Given the description of an element on the screen output the (x, y) to click on. 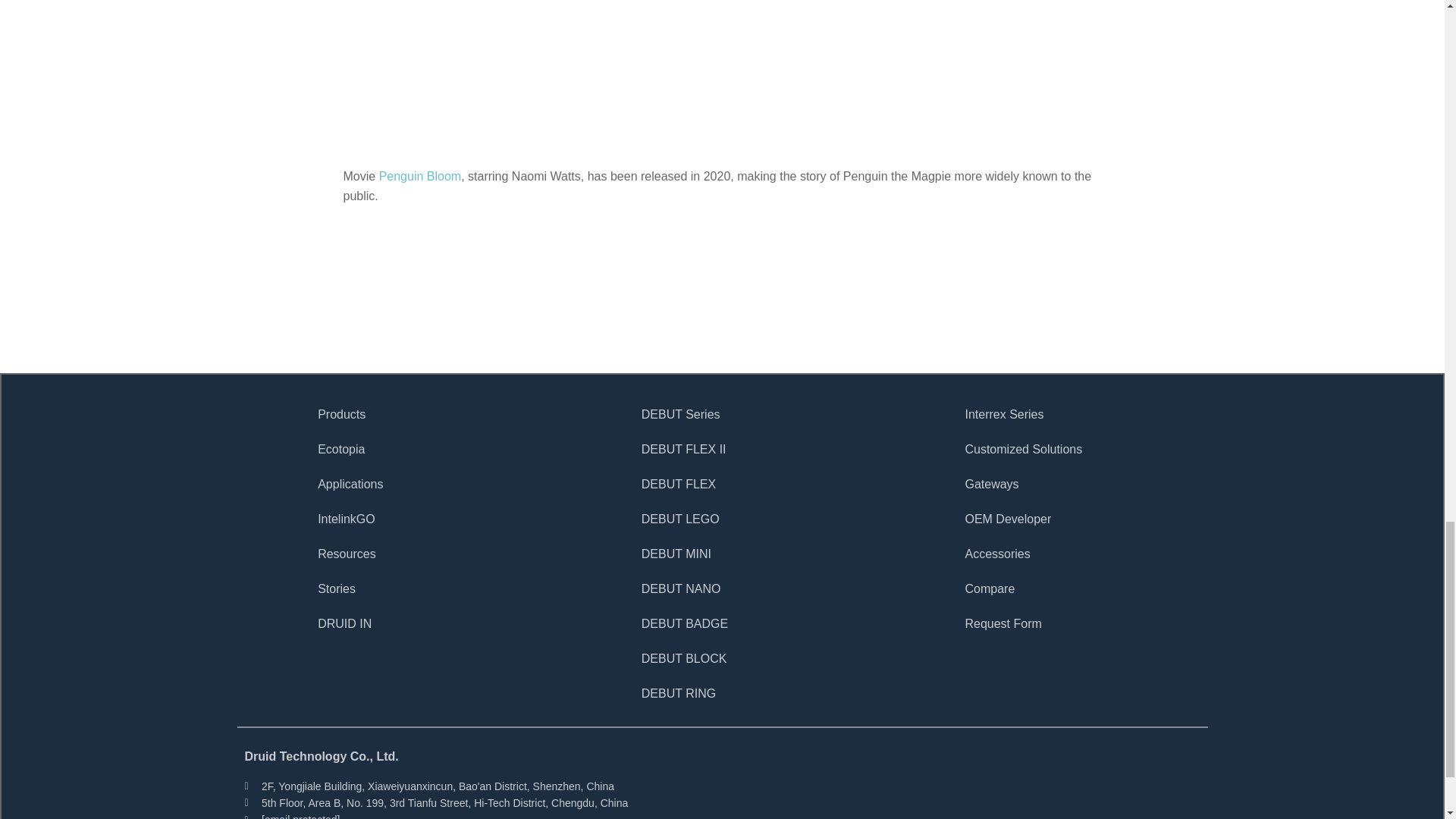
Resources (438, 554)
DEBUT Series (762, 414)
Products (438, 414)
IntelinkGO (438, 519)
DEBUT FLEX II (762, 449)
Stories (438, 588)
Ecotopia (438, 449)
Applications (438, 484)
DRUID IN (438, 623)
DEBUT LEGO (762, 519)
Penguin Bloom (419, 175)
DEBUT NANO (762, 588)
DEBUT BADGE (762, 623)
DEBUT BLOCK (762, 658)
DEBUT FLEX (762, 484)
